Given the description of an element on the screen output the (x, y) to click on. 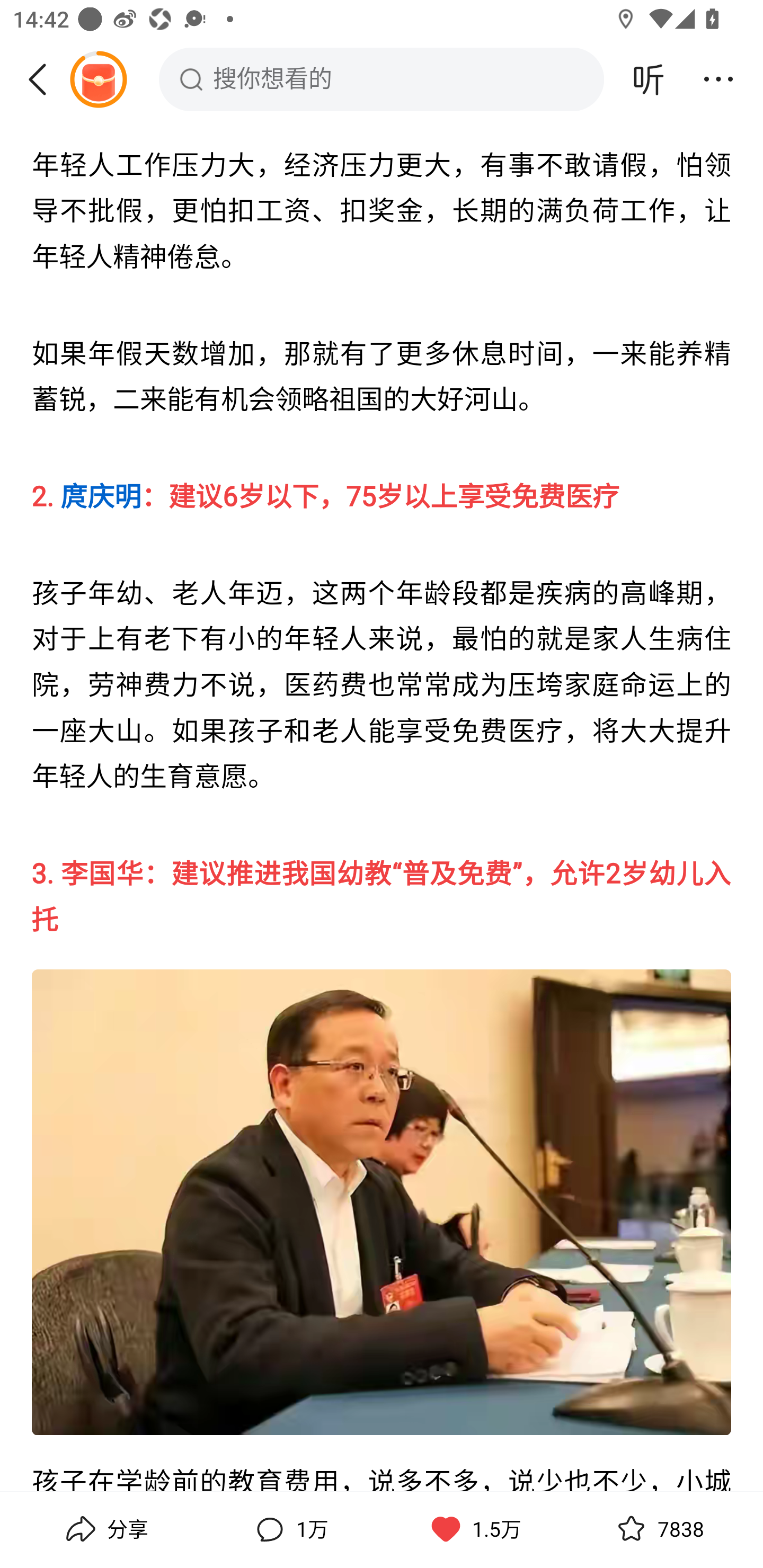
返回 (44, 78)
听头条 (648, 78)
更多操作 (718, 78)
搜你想看的 搜索框，搜你想看的 (381, 79)
阅读赚金币 (98, 79)
图片，点击识别内容 (381, 1200)
分享 (104, 1529)
评论,1万 1万 (288, 1529)
收藏,7838 7838 (658, 1529)
